Given the description of an element on the screen output the (x, y) to click on. 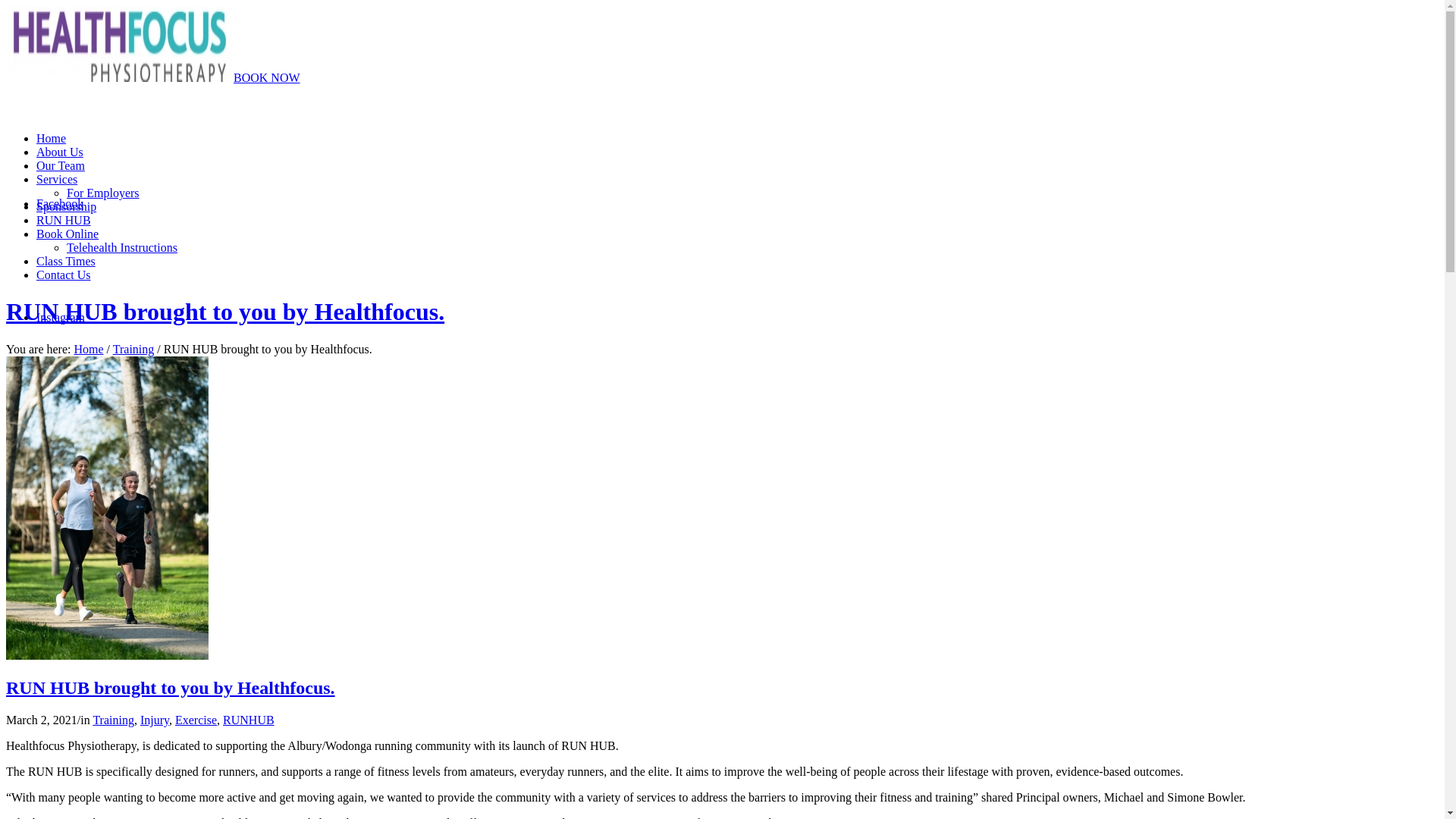
RUNHUB Element type: text (248, 719)
RUN HUB brought to you by Healthfocus. Element type: text (170, 687)
Telehealth Instructions Element type: text (121, 247)
Home Element type: text (50, 137)
Services Element type: text (56, 178)
RUN HUB brought to you by Healthfocus. Element type: hover (107, 655)
For Employers Element type: text (102, 192)
Training Element type: text (133, 348)
BOOK NOW Element type: text (266, 77)
RUN HUB brought to you by Healthfocus. Element type: text (225, 311)
Injury Element type: text (154, 719)
Training Element type: text (113, 719)
RUN HUB Element type: text (63, 219)
Home Element type: text (88, 348)
Book Online Element type: text (67, 233)
Class Times Element type: text (65, 260)
Instagram Element type: text (60, 316)
Our Team Element type: text (60, 165)
Contact Us Element type: text (63, 274)
About Us Element type: text (59, 151)
Facebook Element type: text (59, 203)
Sponsorship Element type: text (66, 206)
Exercise Element type: text (195, 719)
Twitter Element type: text (53, 430)
